Given the description of an element on the screen output the (x, y) to click on. 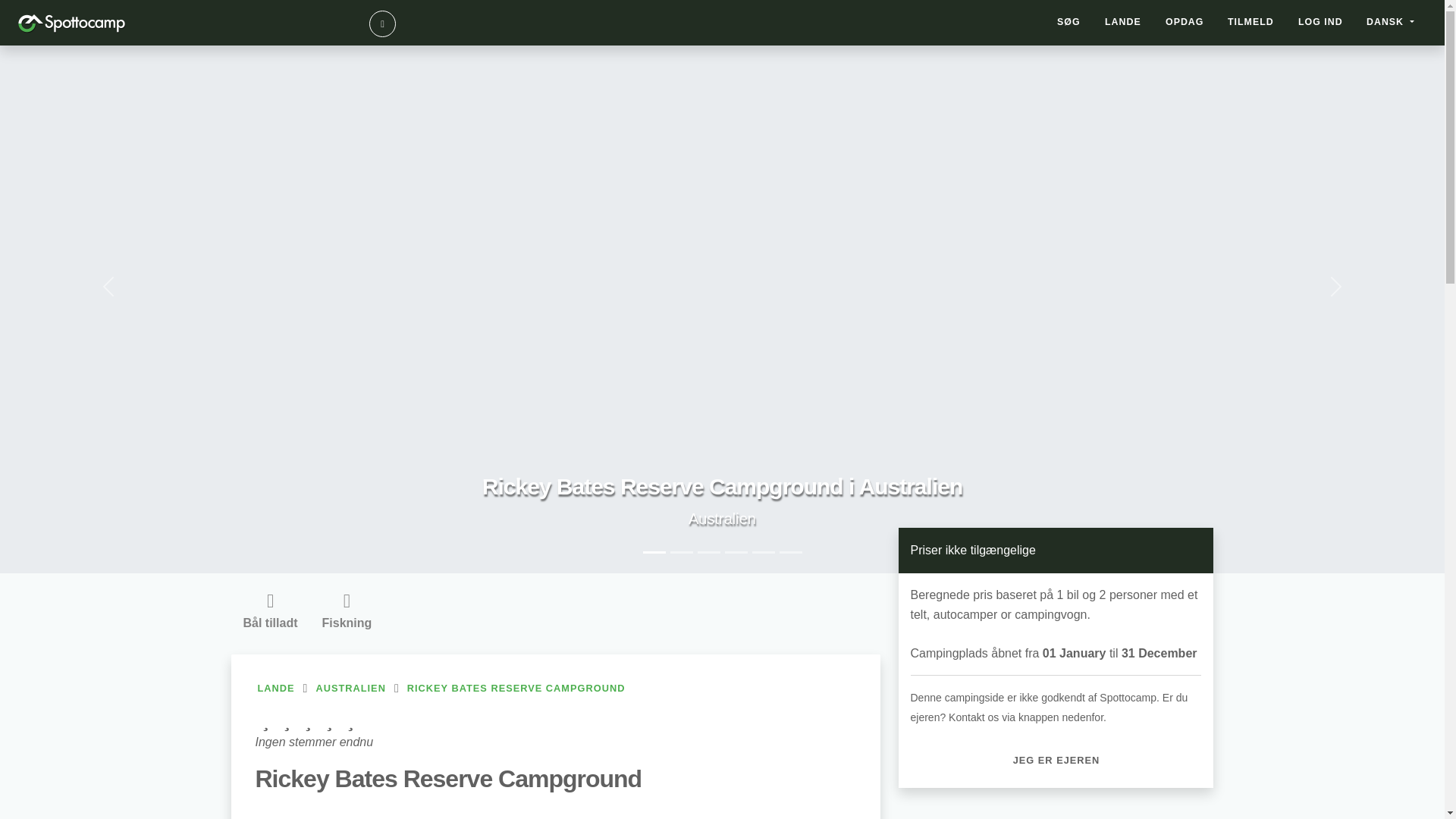
OPDAG (1184, 22)
LOG IND (1320, 22)
AUSTRALIEN (350, 688)
RICKEY BATES RESERVE CAMPGROUND (515, 688)
TILMELD (1250, 22)
LANDE (1123, 22)
JEG ER EJEREN (1055, 760)
LANDE (555, 688)
